Given the description of an element on the screen output the (x, y) to click on. 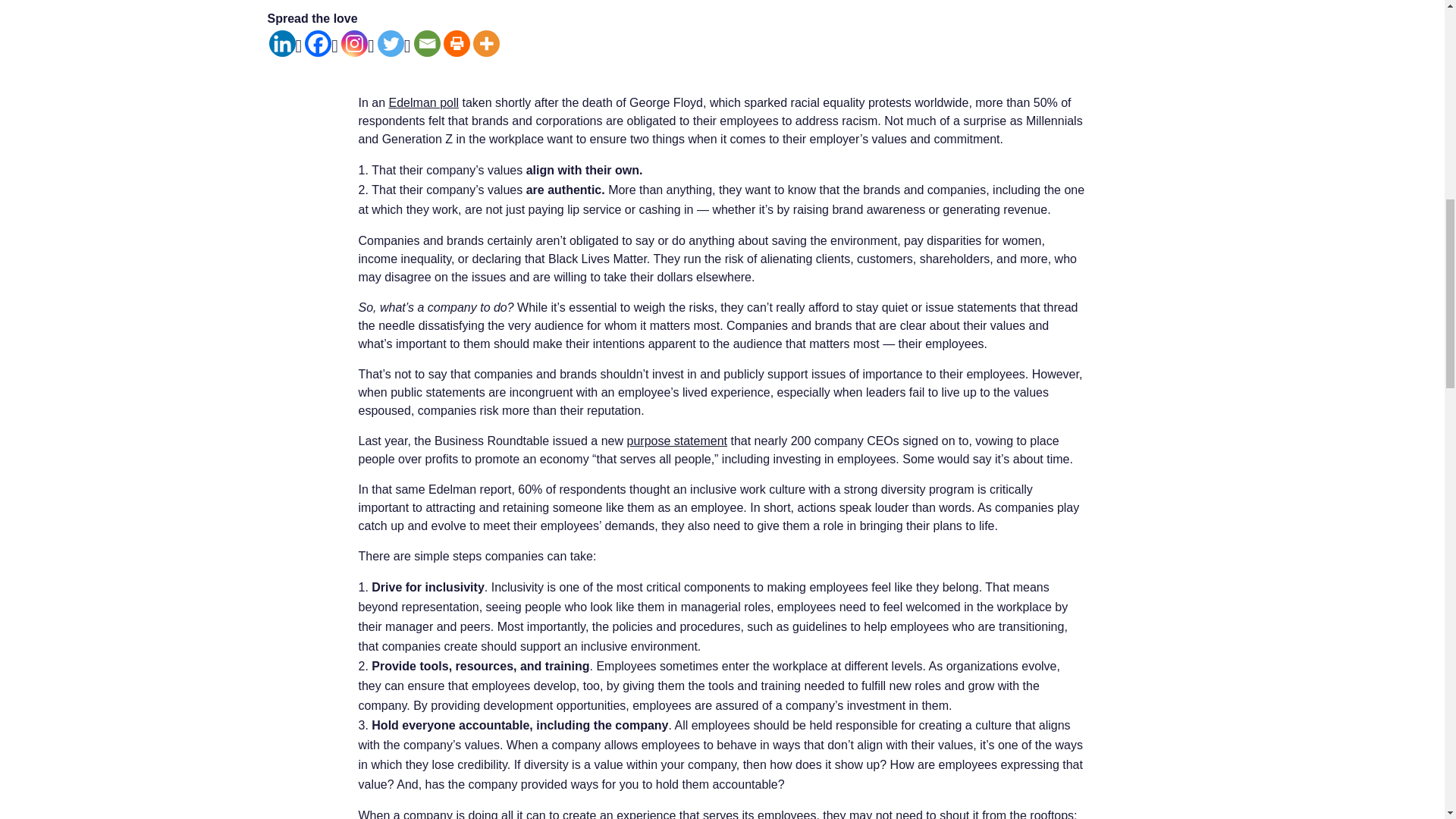
Email (427, 43)
More (486, 43)
Linkedin (284, 44)
Twitter (393, 44)
Facebook (320, 44)
Instagram (357, 44)
Edelman poll (424, 102)
Print (457, 43)
purpose statement (676, 440)
